Given the description of an element on the screen output the (x, y) to click on. 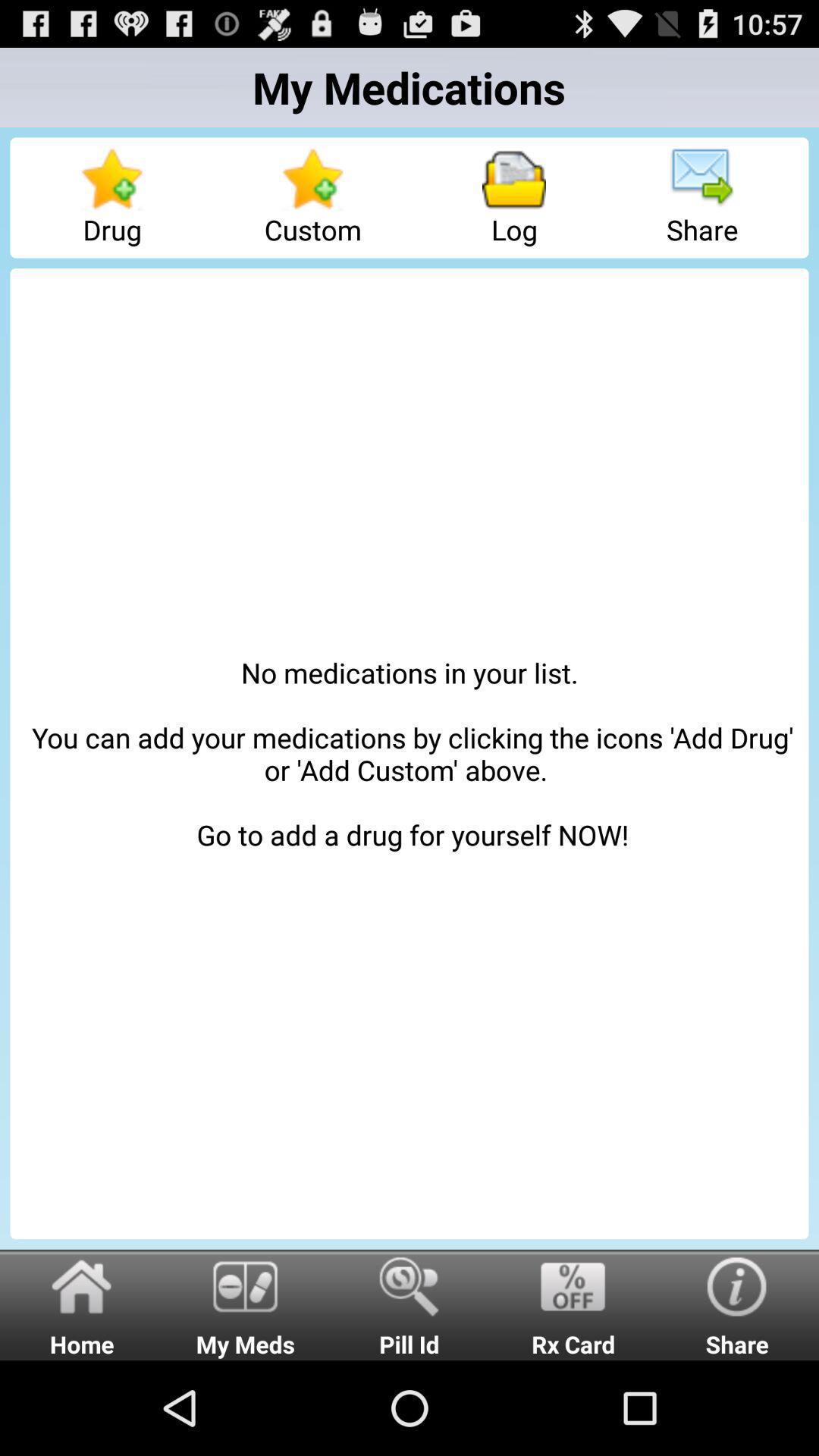
tap rx card icon (573, 1304)
